Given the description of an element on the screen output the (x, y) to click on. 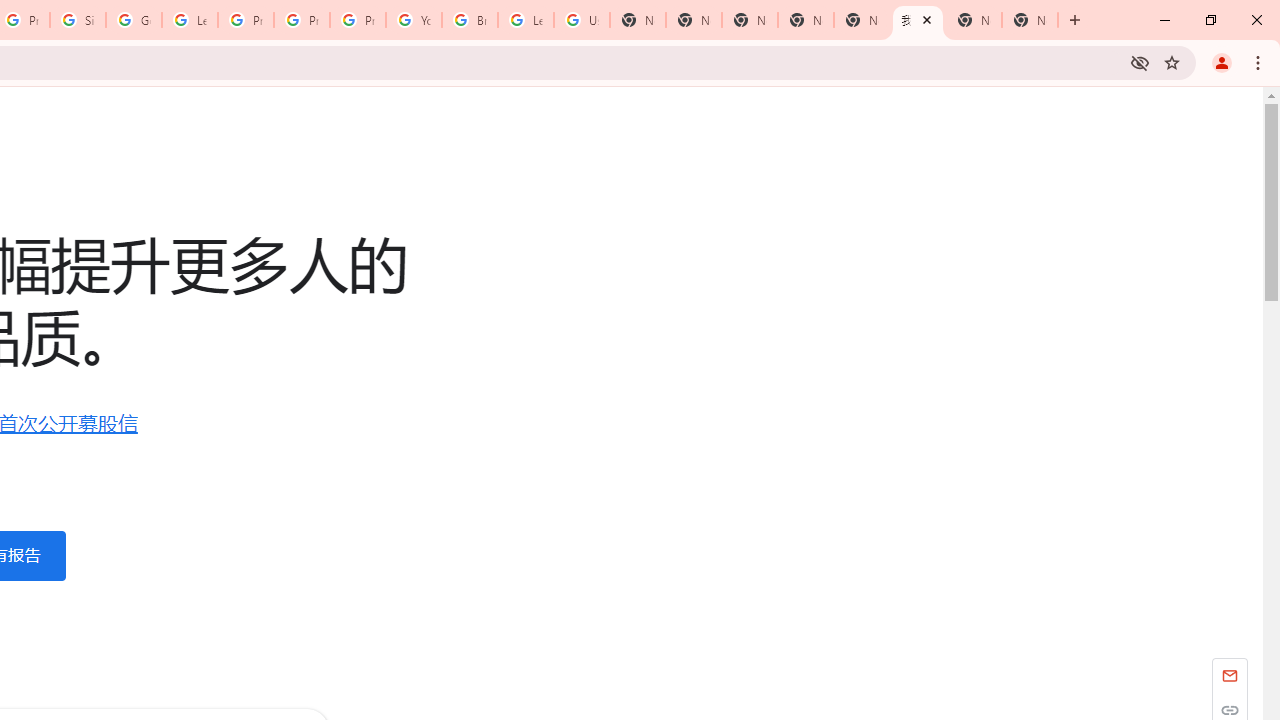
YouTube (413, 20)
New Tab (1030, 20)
New Tab (749, 20)
Sign in - Google Accounts (77, 20)
Privacy Help Center - Policies Help (301, 20)
